Given the description of an element on the screen output the (x, y) to click on. 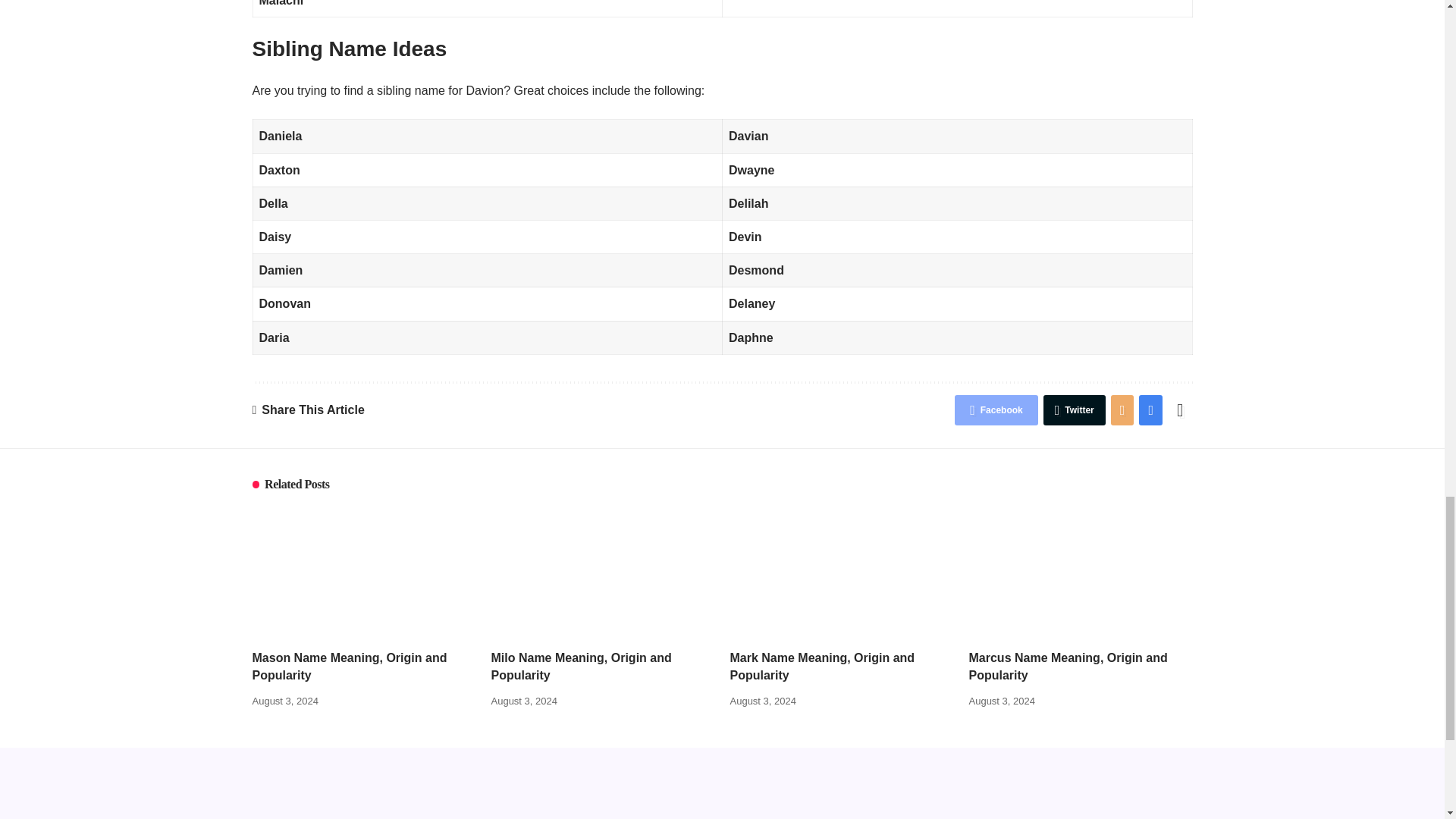
Mason Name Meaning, Origin and Popularity (363, 572)
Milo Name Meaning, Origin and Popularity (603, 572)
Marcus Name Meaning, Origin and Popularity (1080, 572)
Mark Name Meaning, Origin and Popularity (841, 572)
